Given the description of an element on the screen output the (x, y) to click on. 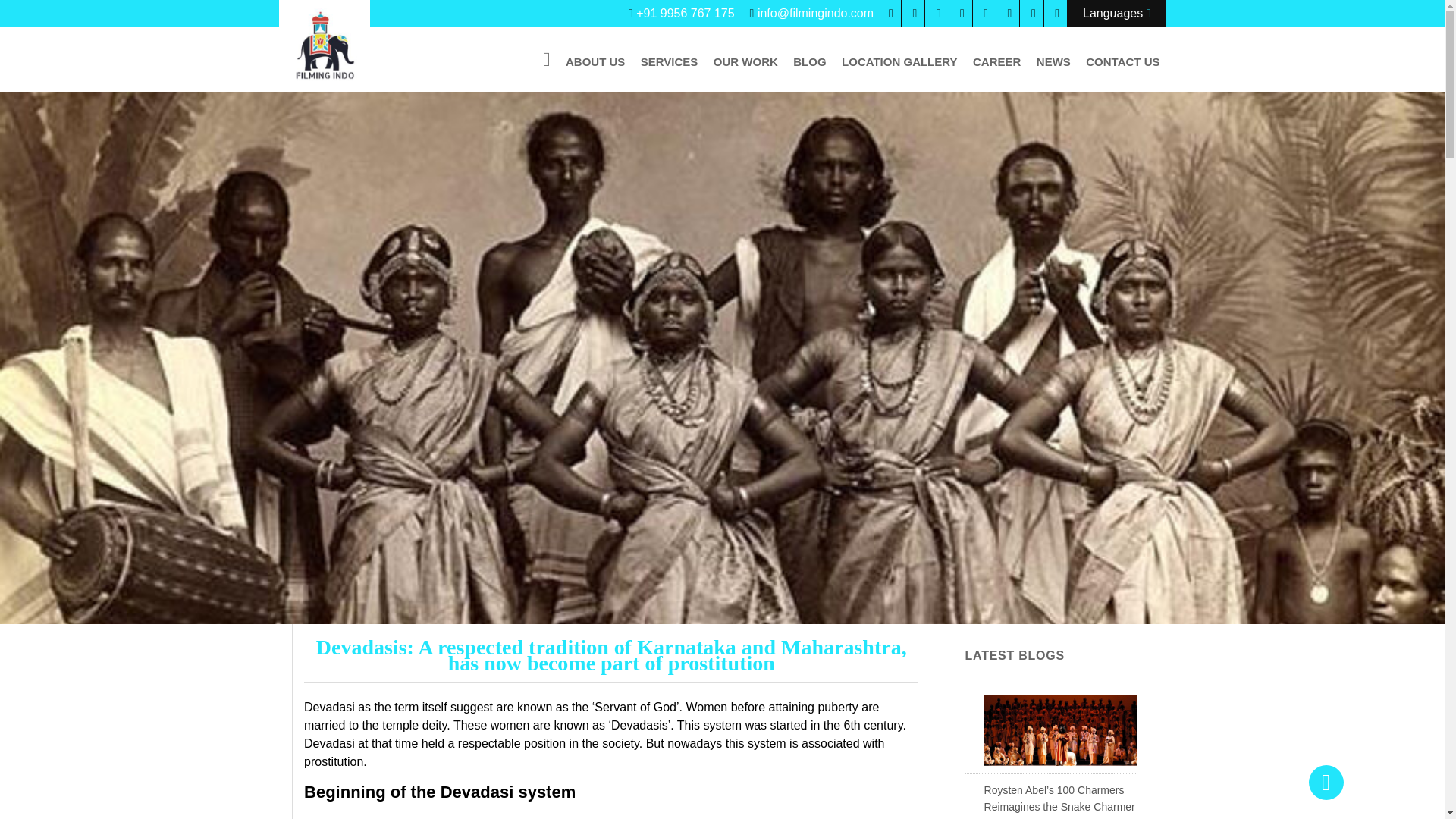
NEWS (1053, 61)
SERVICES (669, 61)
ABOUT US (594, 61)
LOCATION GALLERY (899, 61)
BLOG (809, 61)
CAREER (996, 61)
OUR WORK (745, 61)
CONTACT US (1123, 61)
